Given the description of an element on the screen output the (x, y) to click on. 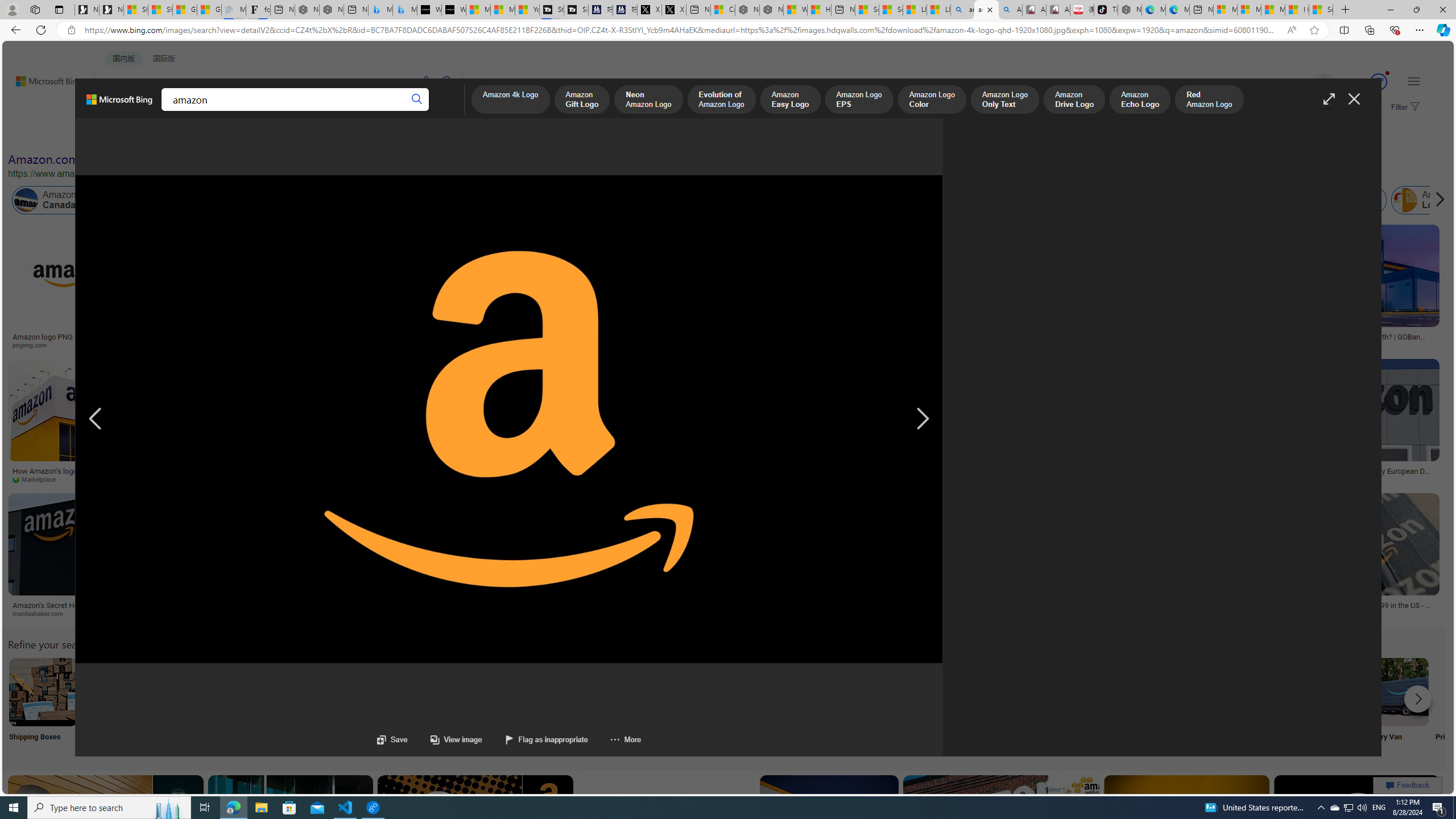
Amazon Gift Logo (581, 100)
Amazon down? Current status and problems | Downdetector (861, 340)
Amazon Spain (1159, 200)
Amazon Mini TV Mini TV (794, 706)
Echo Dot 4th Gen (617, 264)
protothema.gr (466, 613)
